Given the description of an element on the screen output the (x, y) to click on. 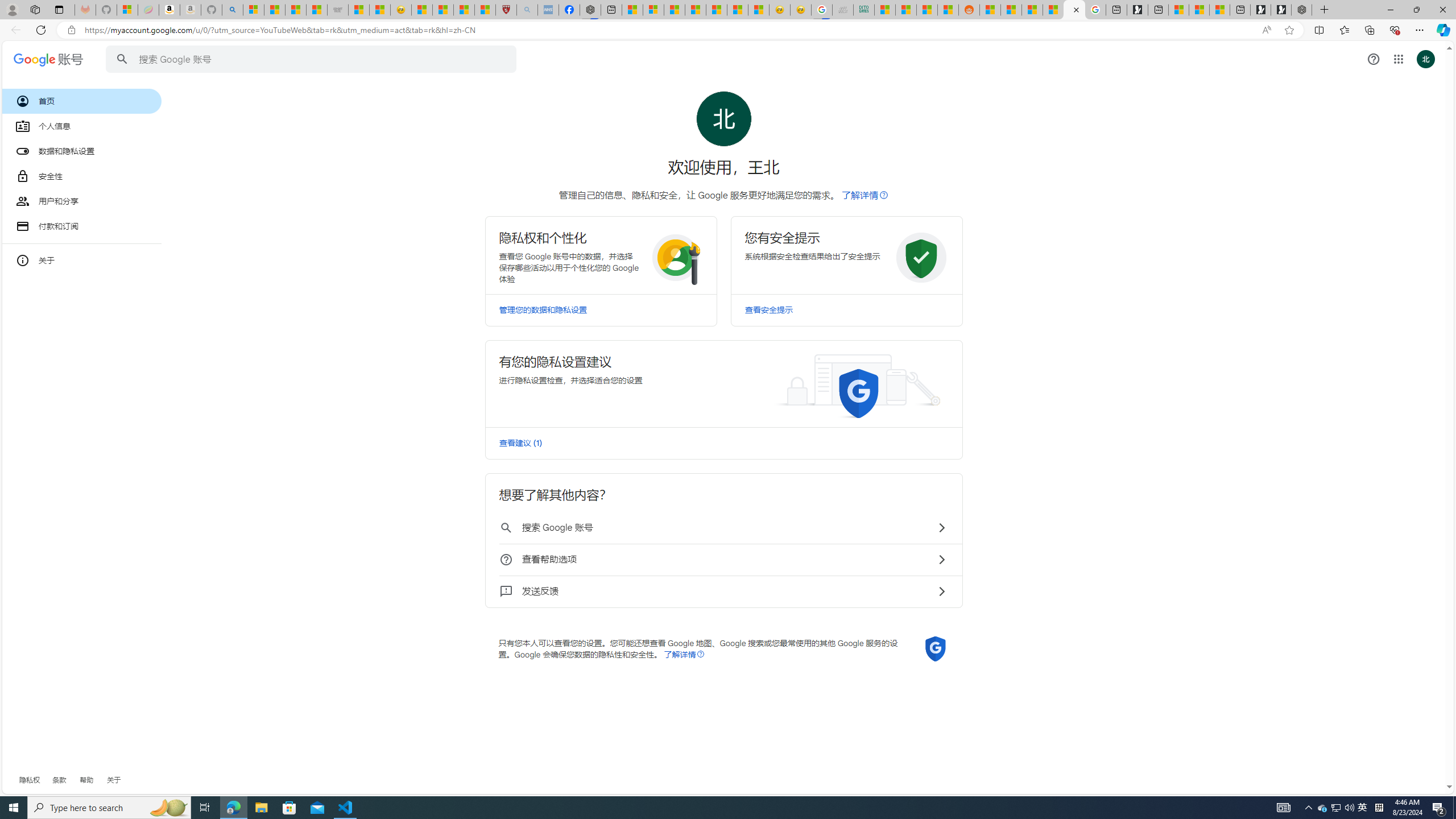
Class: RlFDUe N5YmOc kJXJmd bvW4md I6g62c (723, 383)
Class: gb_E (1398, 59)
Robert H. Shmerling, MD - Harvard Health (505, 9)
